Given the description of an element on the screen output the (x, y) to click on. 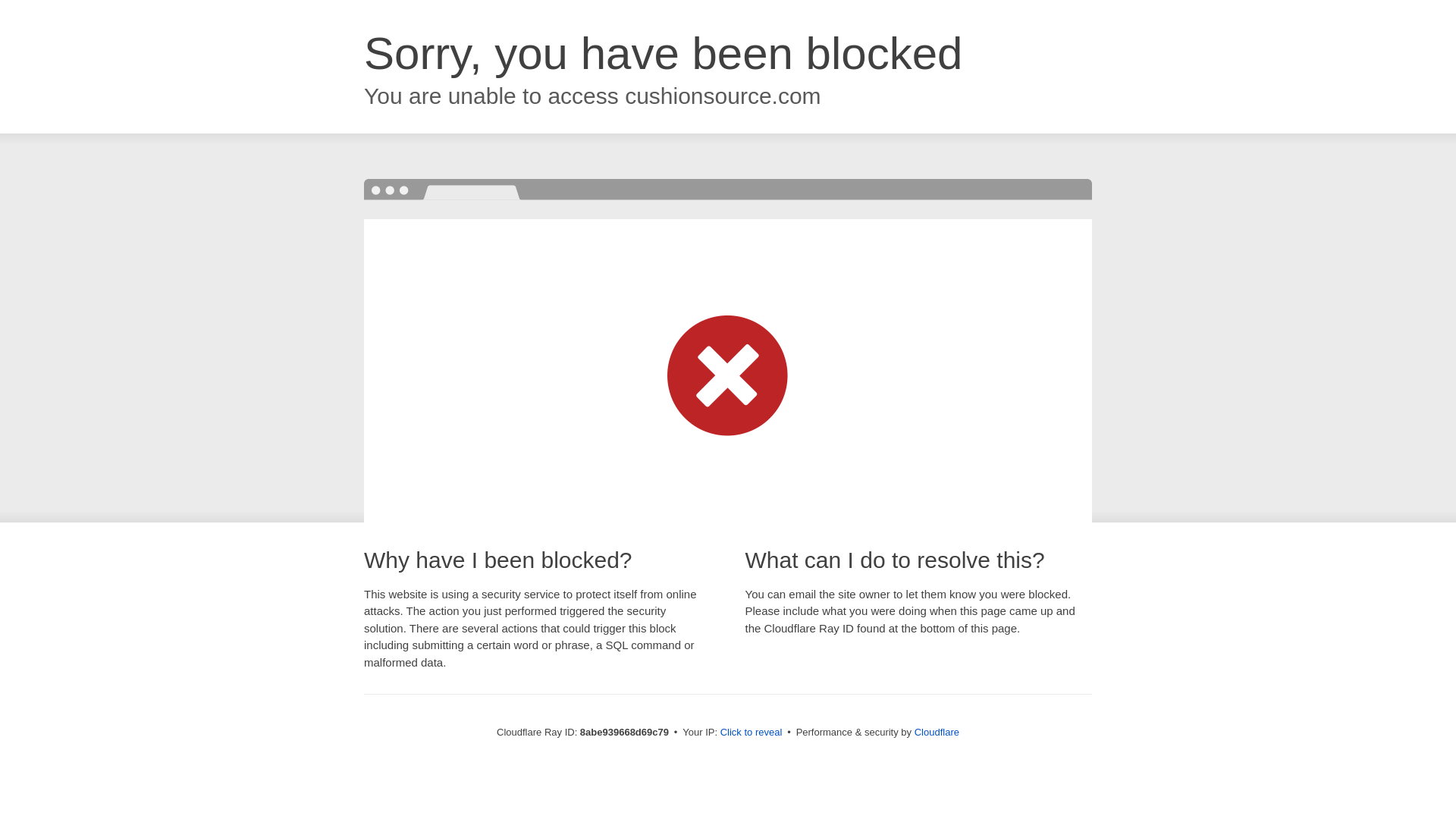
Click to reveal (751, 732)
Cloudflare (936, 731)
